Given the description of an element on the screen output the (x, y) to click on. 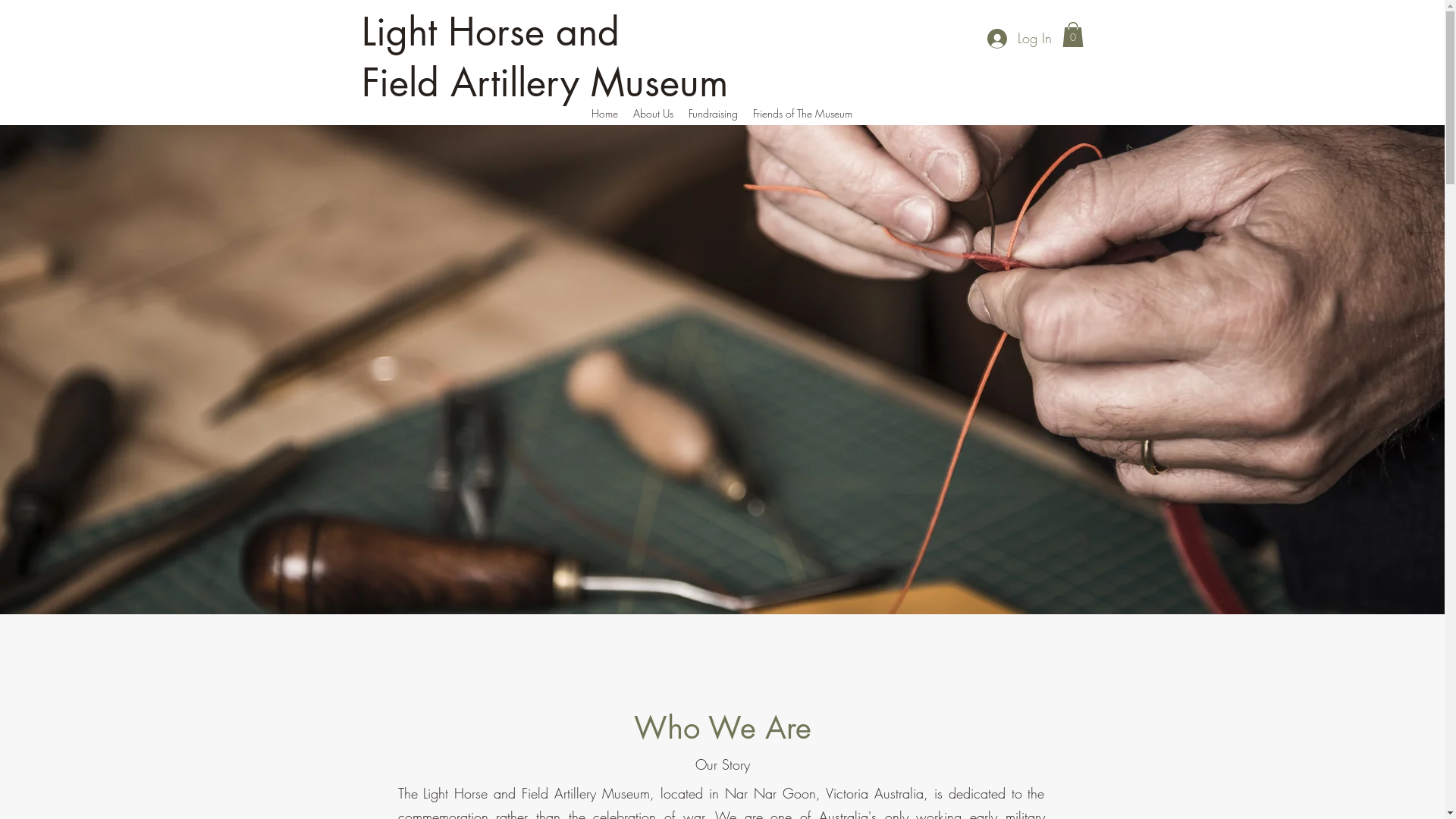
Fundraising Element type: text (712, 113)
Home Element type: text (604, 113)
About Us Element type: text (652, 113)
Log In Element type: text (1019, 38)
Friends of The Museum Element type: text (801, 113)
0 Element type: text (1071, 34)
